Given the description of an element on the screen output the (x, y) to click on. 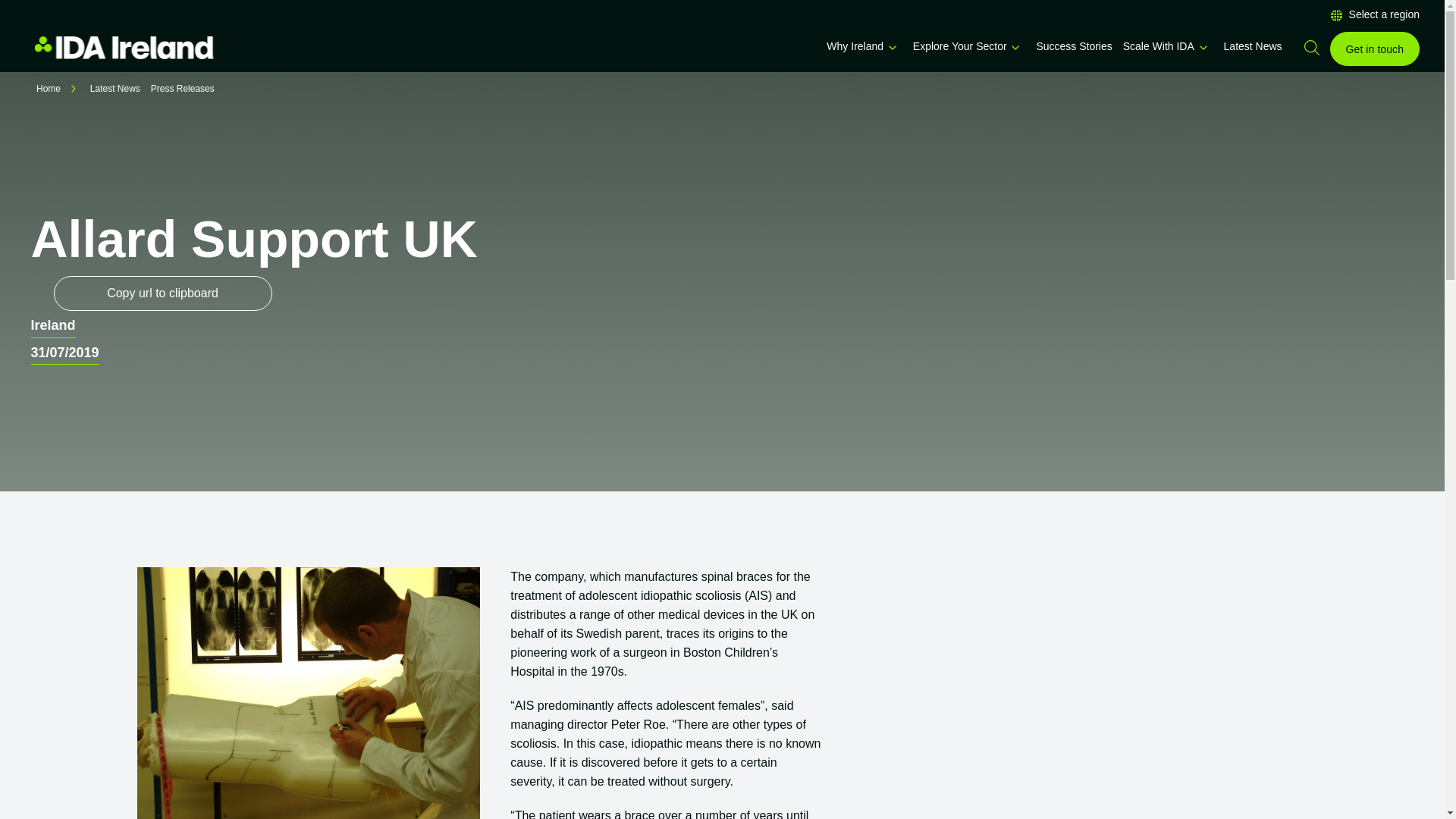
Explore Your Sector (959, 46)
Scale With IDA (1157, 46)
Latest News (1253, 46)
A short title of the SVG (892, 47)
A short title of the SVG (1015, 47)
Success Stories (1073, 46)
A short title of the SVG (1202, 47)
Why Ireland (855, 46)
Get in touch (1374, 48)
